Given the description of an element on the screen output the (x, y) to click on. 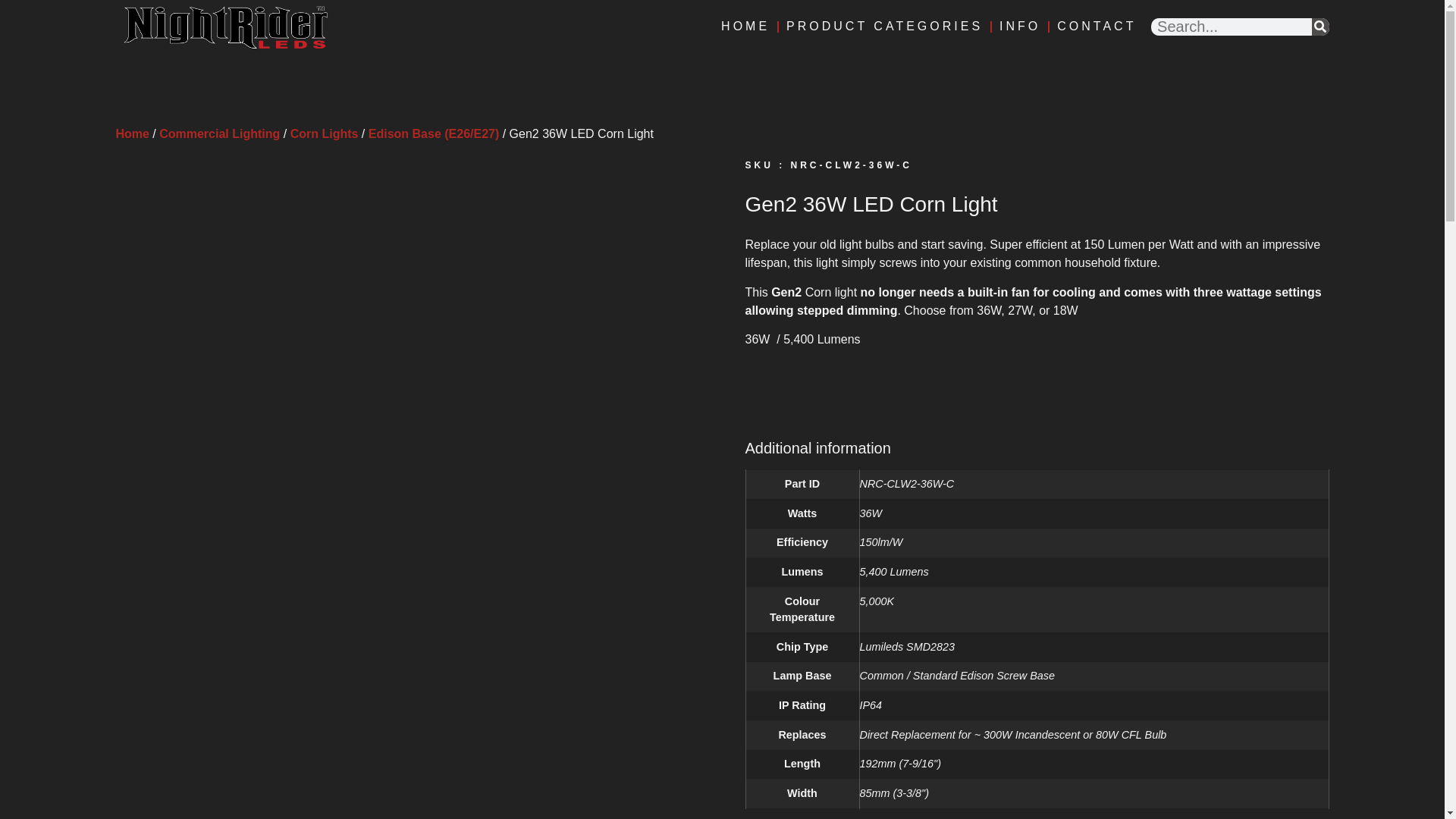
PRODUCT CATEGORIES (884, 26)
INFO (1019, 26)
HOME (745, 26)
